Given the description of an element on the screen output the (x, y) to click on. 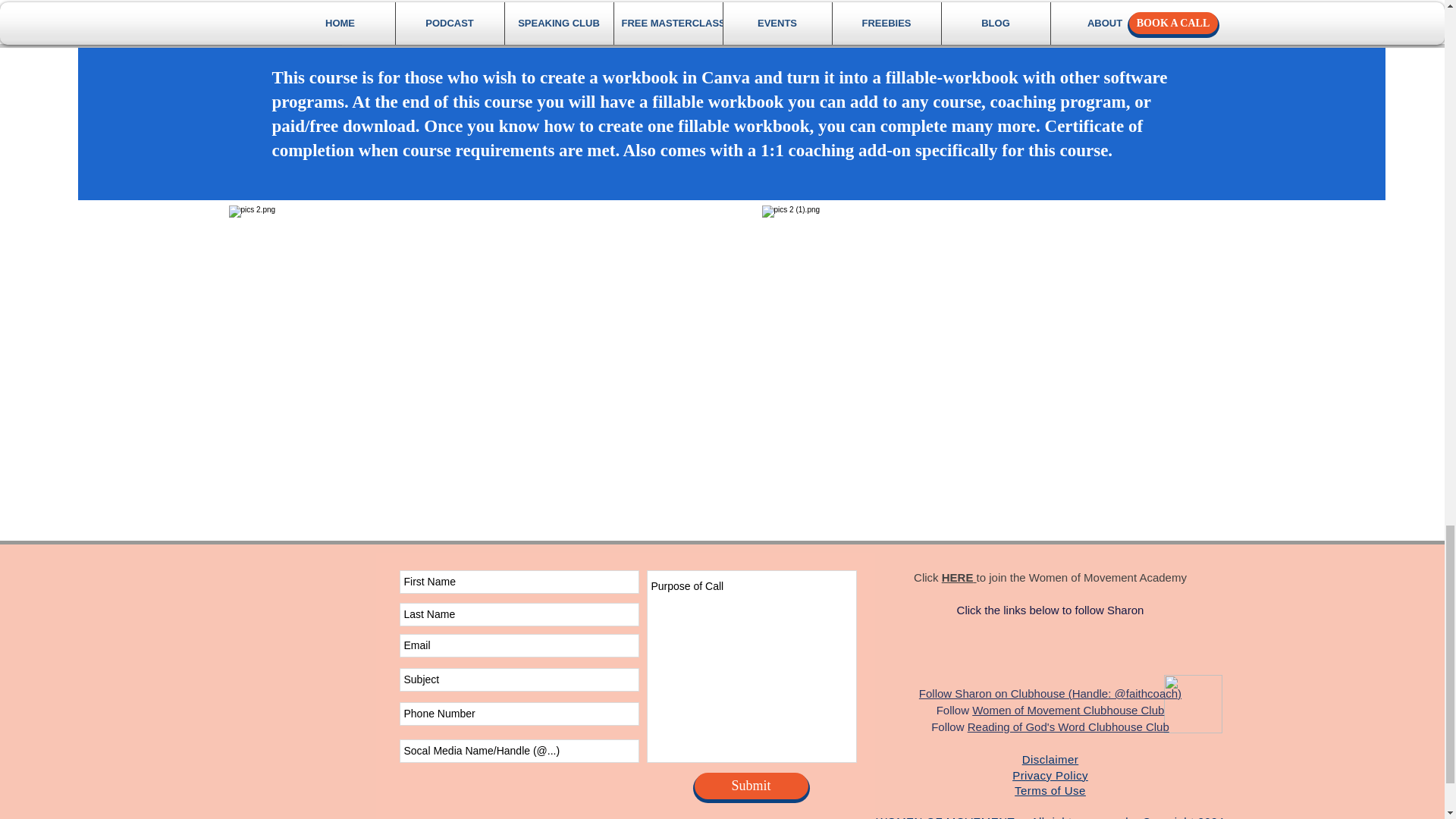
Disclaimer (1050, 758)
HERE (959, 576)
Reading of God's Word Clubhouse Club (1068, 726)
Women of Movement Clubhouse Club (1067, 709)
Privacy Policy (1049, 775)
Submit (751, 786)
Favicon WOM Logo.png (1192, 703)
Terms of Use (1050, 790)
